Given the description of an element on the screen output the (x, y) to click on. 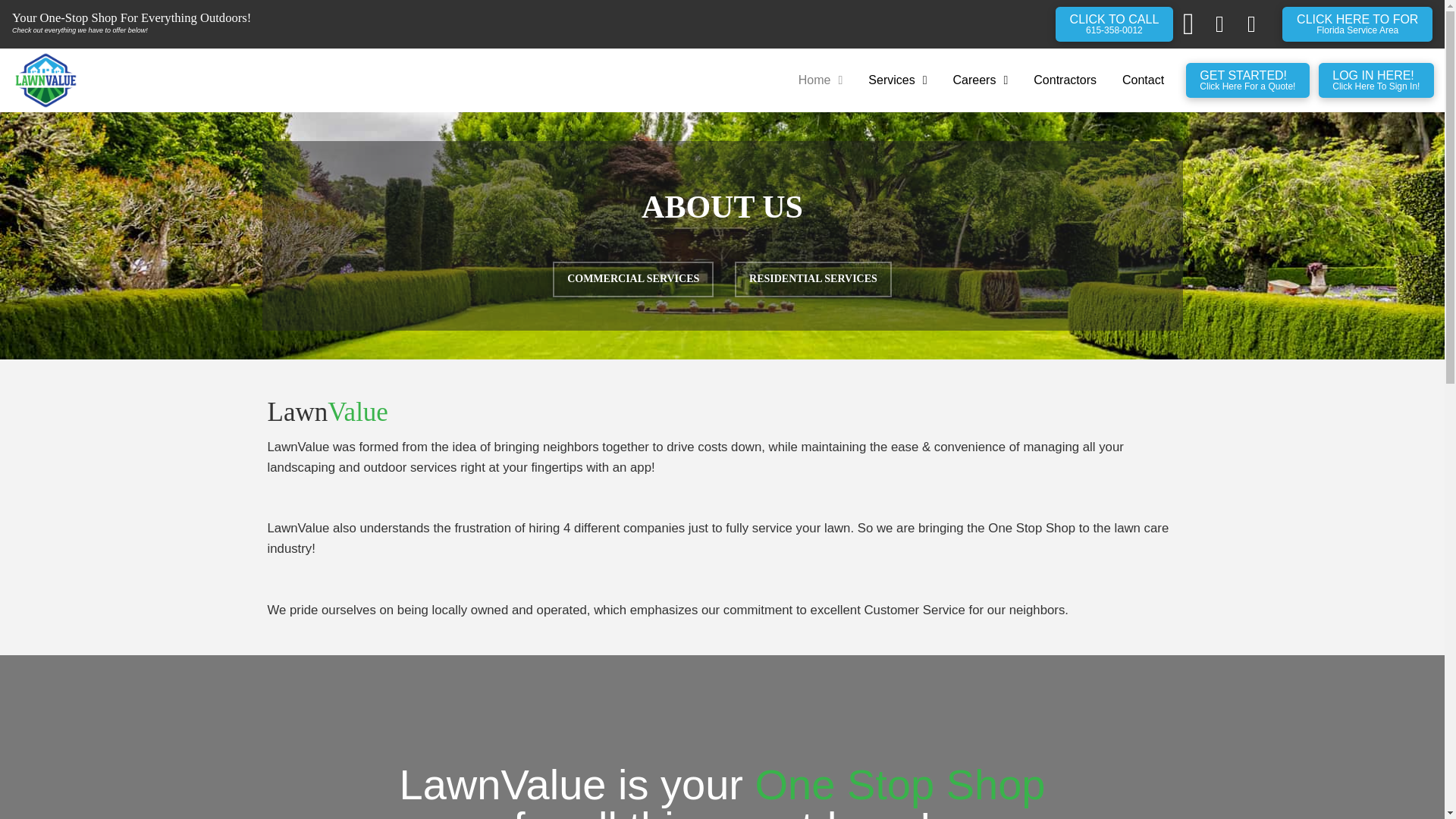
Services (897, 80)
Home (1357, 23)
